Given the description of an element on the screen output the (x, y) to click on. 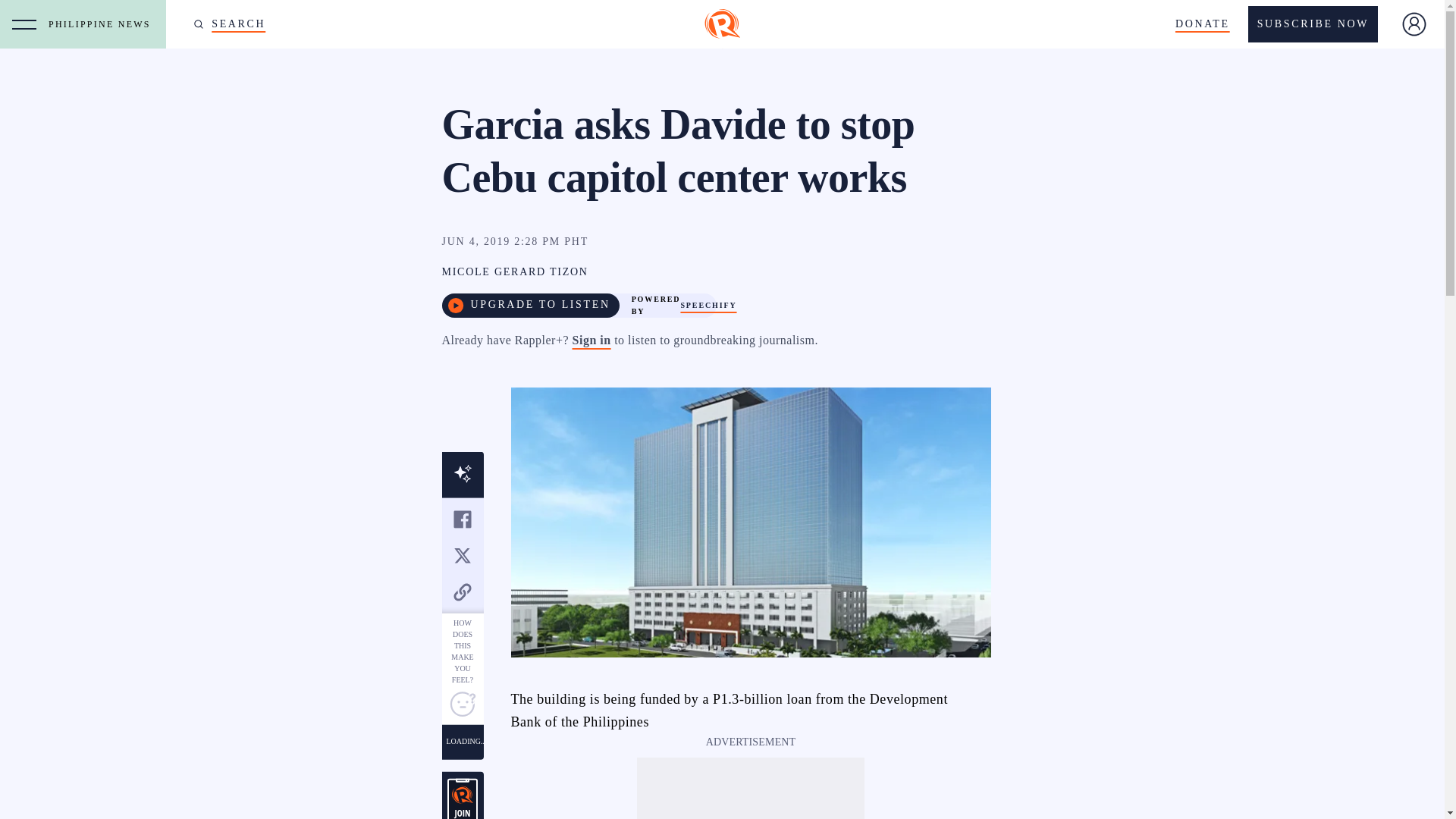
OPEN NAVIGATION (24, 24)
PHILIPPINE NEWS (103, 23)
